Given the description of an element on the screen output the (x, y) to click on. 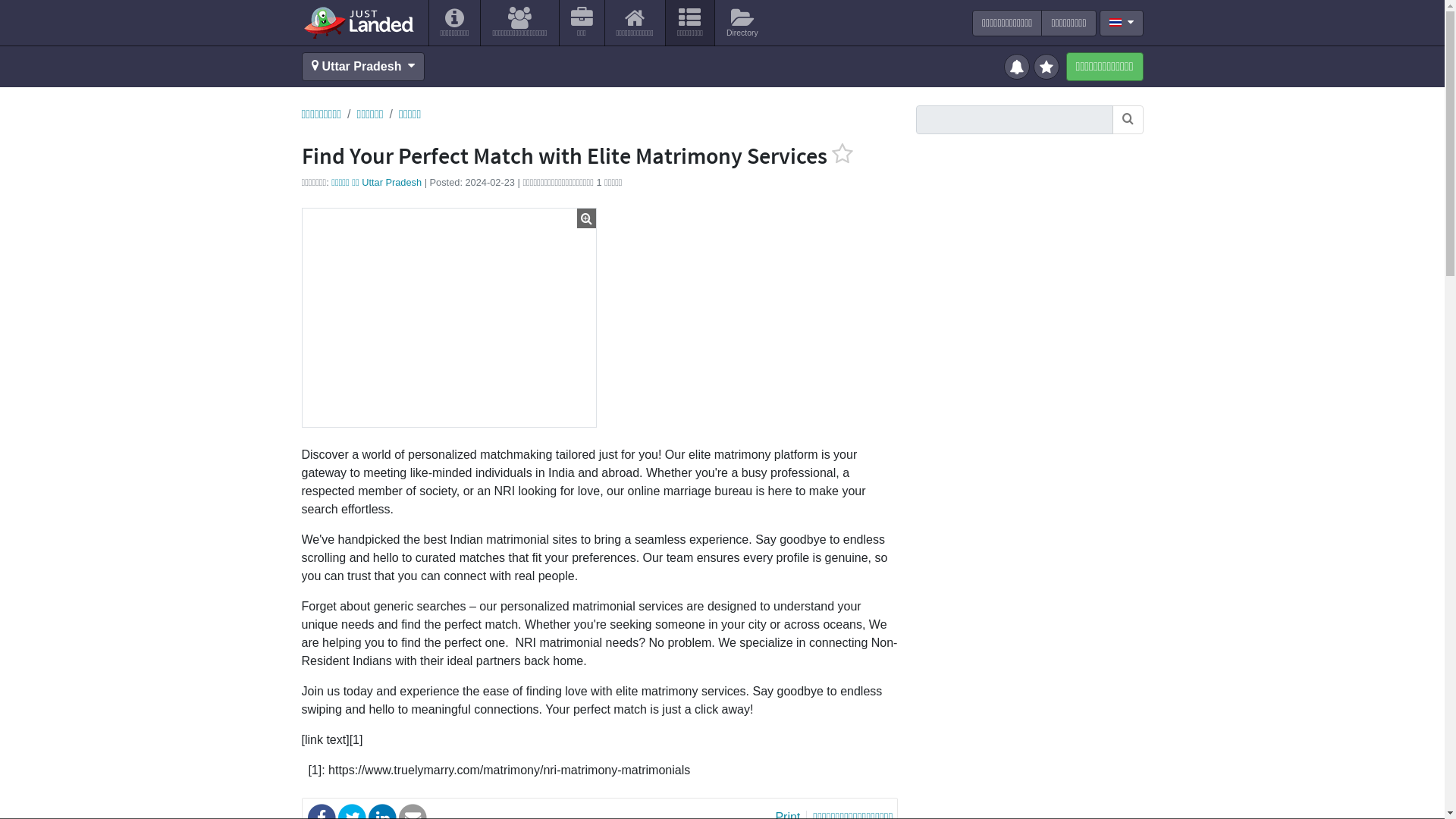
Thai (1114, 22)
Uttar Pradesh (363, 66)
Change location (363, 66)
Just Landed (357, 22)
Just Landed (357, 22)
Alerts (1018, 65)
Directory (742, 22)
